Given the description of an element on the screen output the (x, y) to click on. 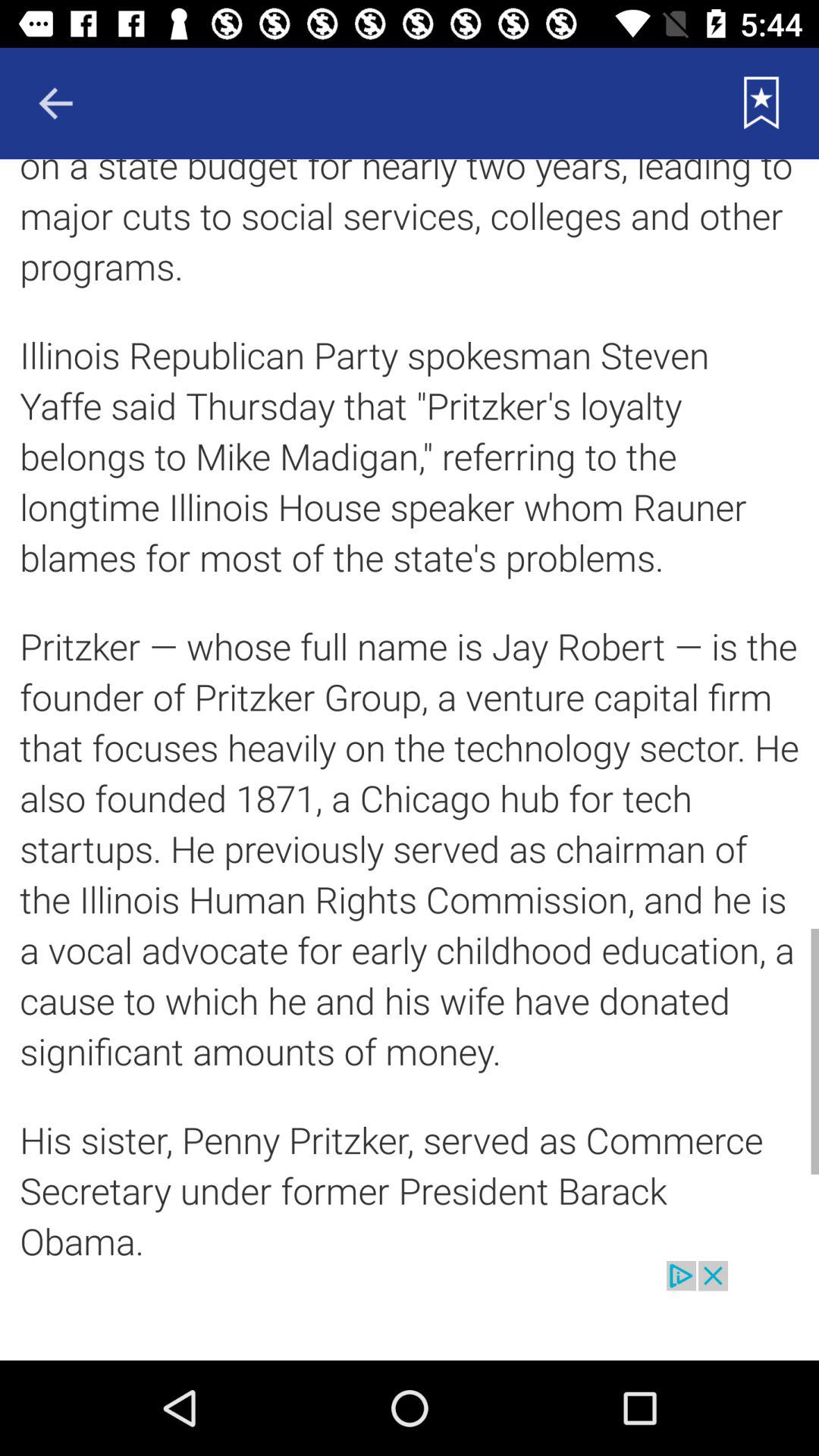
see advertisement (409, 1310)
